Given the description of an element on the screen output the (x, y) to click on. 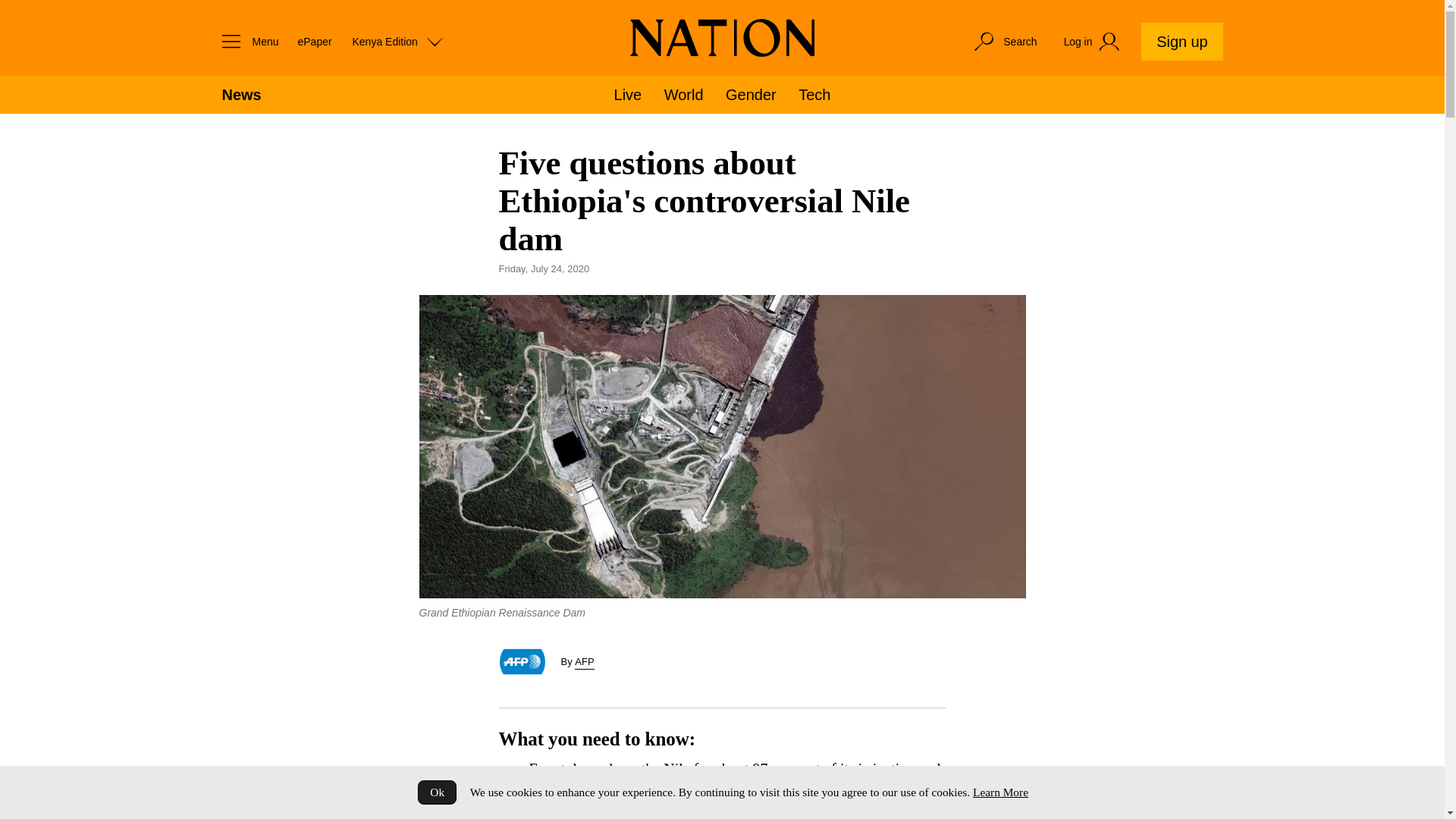
News (240, 94)
Tech (813, 94)
World (683, 94)
Learn More (999, 791)
Learn More (999, 791)
Kenya Edition (398, 41)
Menu (246, 41)
Gender (750, 94)
Live (628, 94)
Sign up (1182, 41)
ePaper (314, 41)
Log in (1094, 41)
Search (1003, 41)
Ok (437, 792)
